Given the description of an element on the screen output the (x, y) to click on. 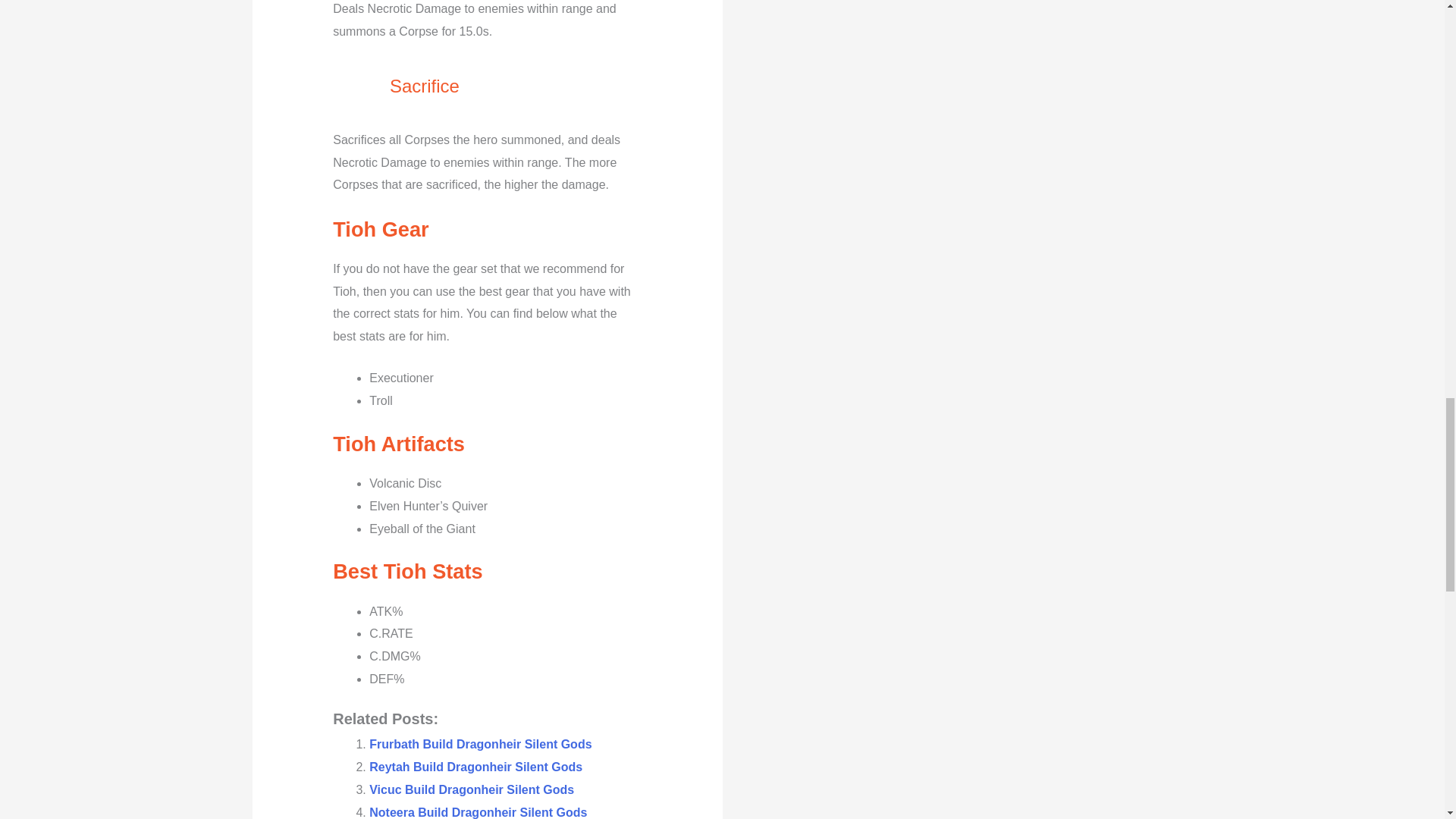
Vicuc Build Dragonheir Silent Gods (471, 789)
Frurbath Build Dragonheir Silent Gods (480, 744)
Reytah Build Dragonheir Silent Gods (475, 766)
Noteera Build Dragonheir Silent Gods (477, 812)
